Given the description of an element on the screen output the (x, y) to click on. 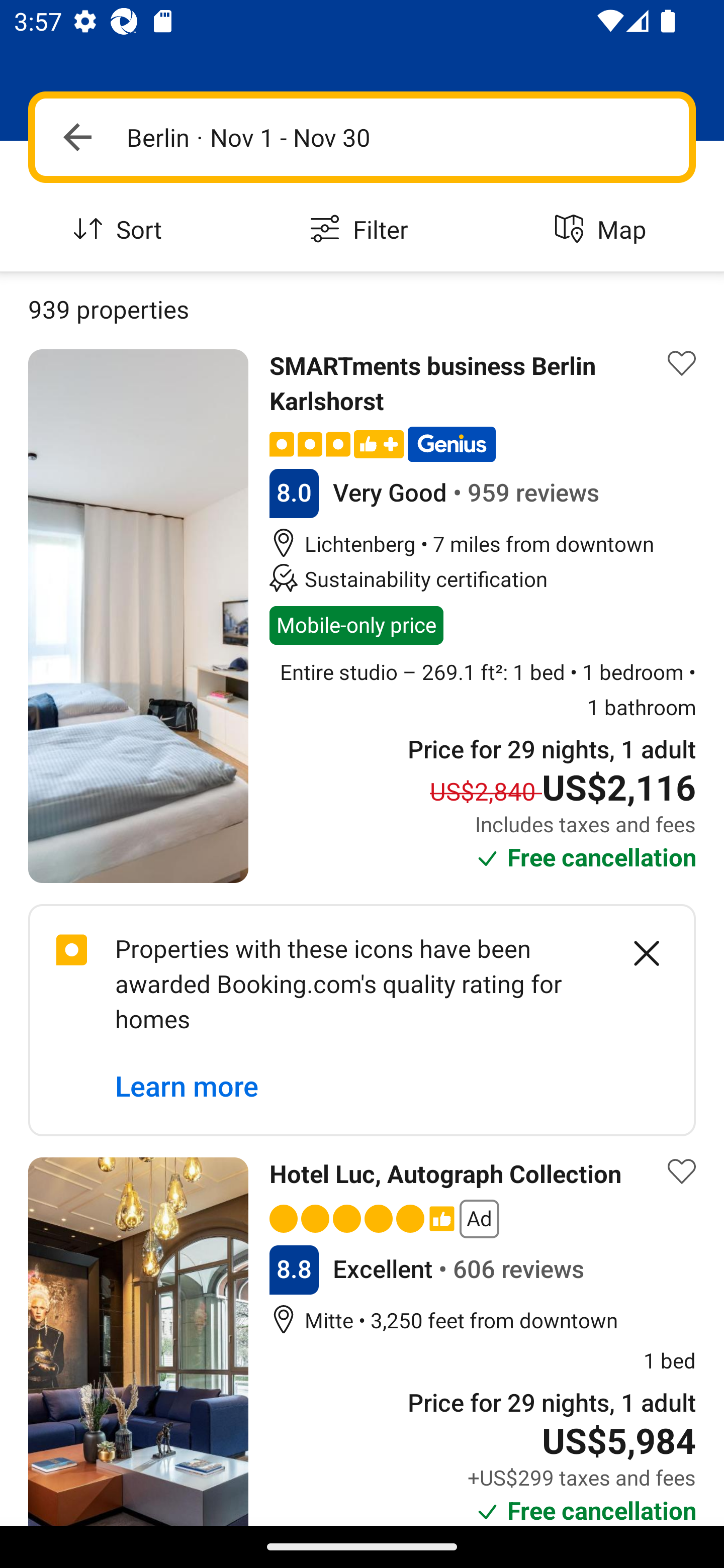
Navigate up Berlin · Nov 1 - Nov 30 (362, 136)
Navigate up (77, 136)
Sort (120, 230)
Filter (361, 230)
Map (603, 230)
Save property to list (681, 363)
Clear (635, 953)
Learn more (187, 1086)
Save property to list (681, 1170)
